Given the description of an element on the screen output the (x, y) to click on. 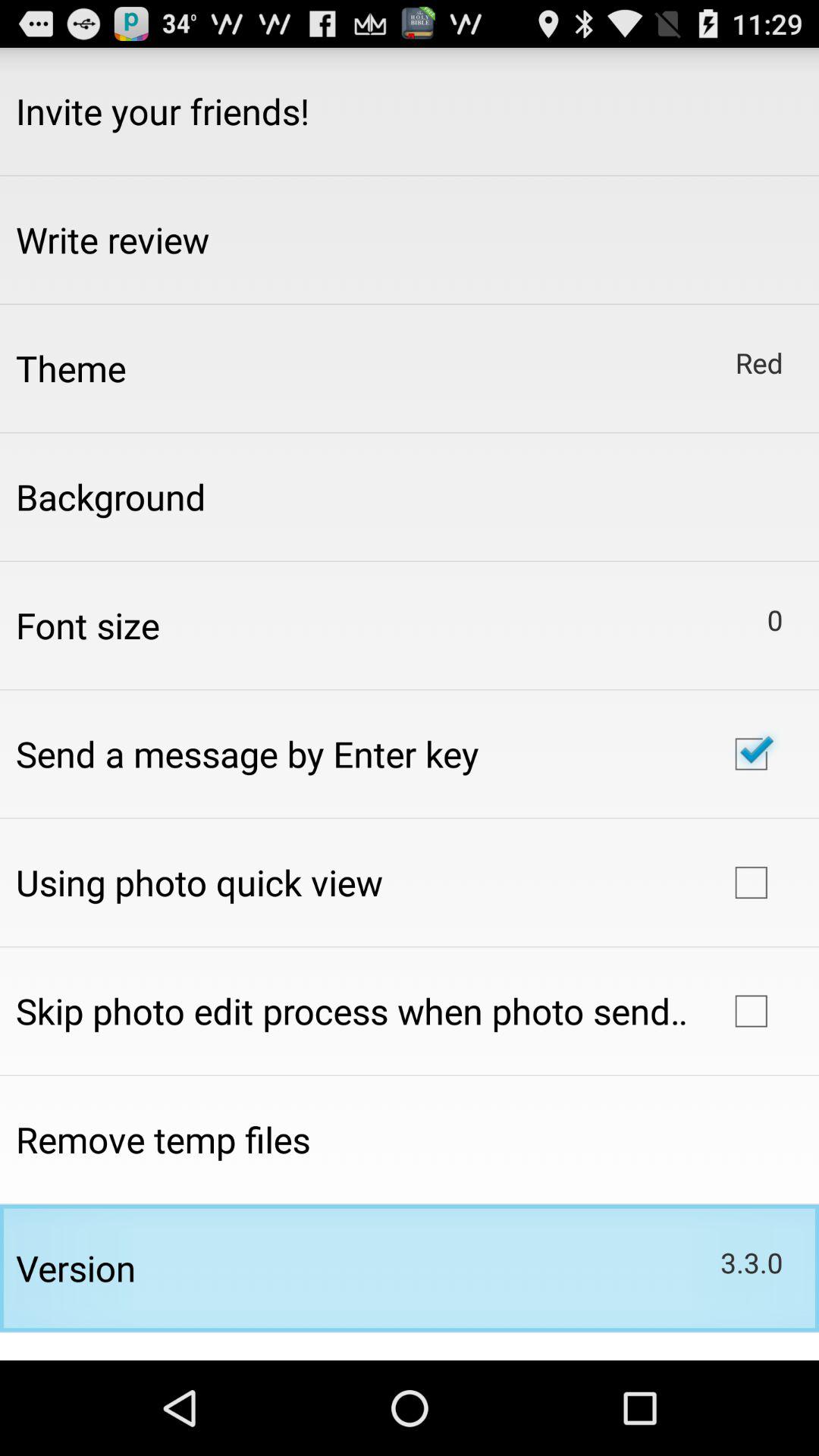
turn off write review item (112, 239)
